Given the description of an element on the screen output the (x, y) to click on. 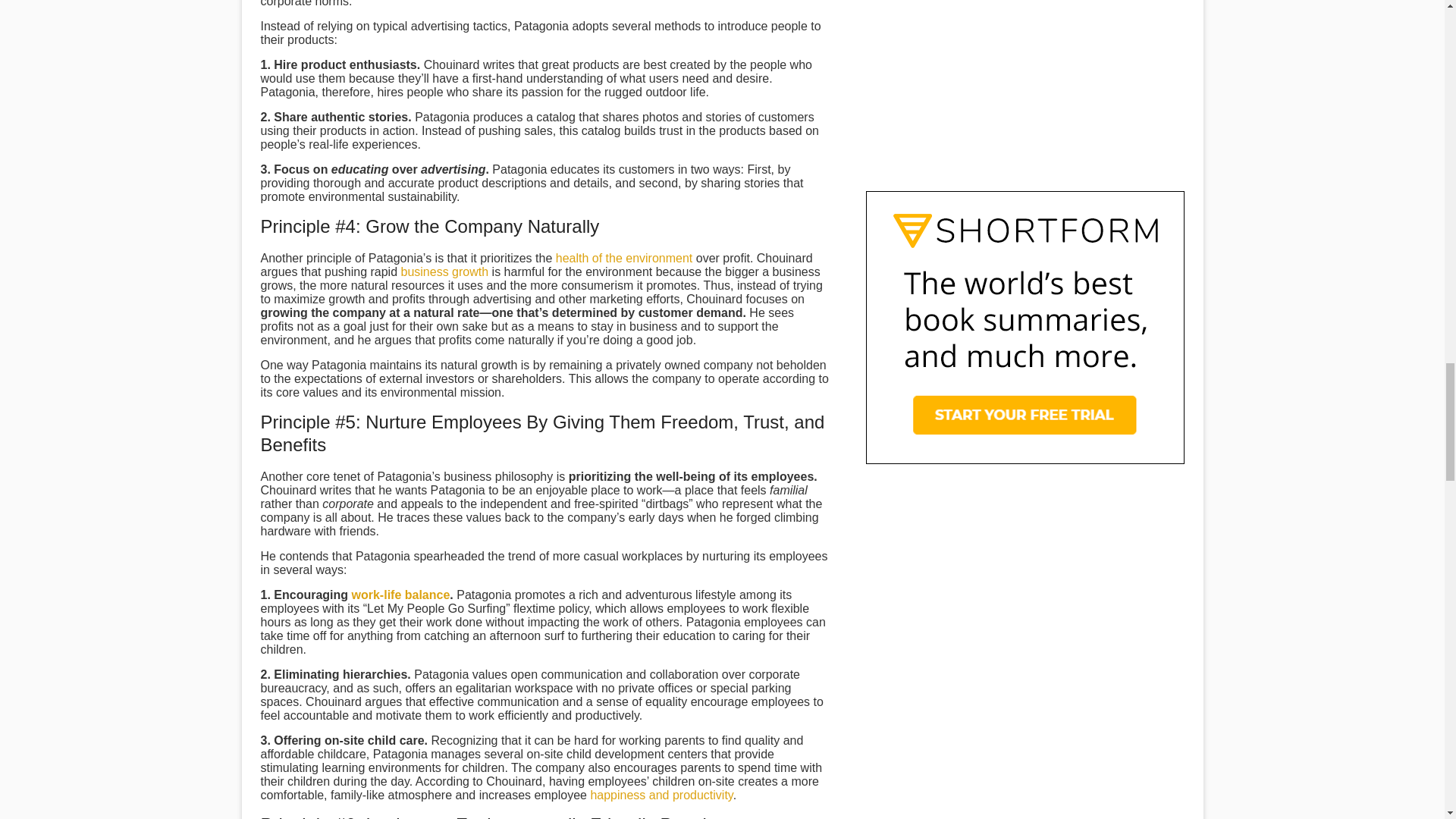
happiness and productivity (660, 794)
business growth (445, 271)
work-life balance (400, 594)
health of the environment (624, 257)
